Given the description of an element on the screen output the (x, y) to click on. 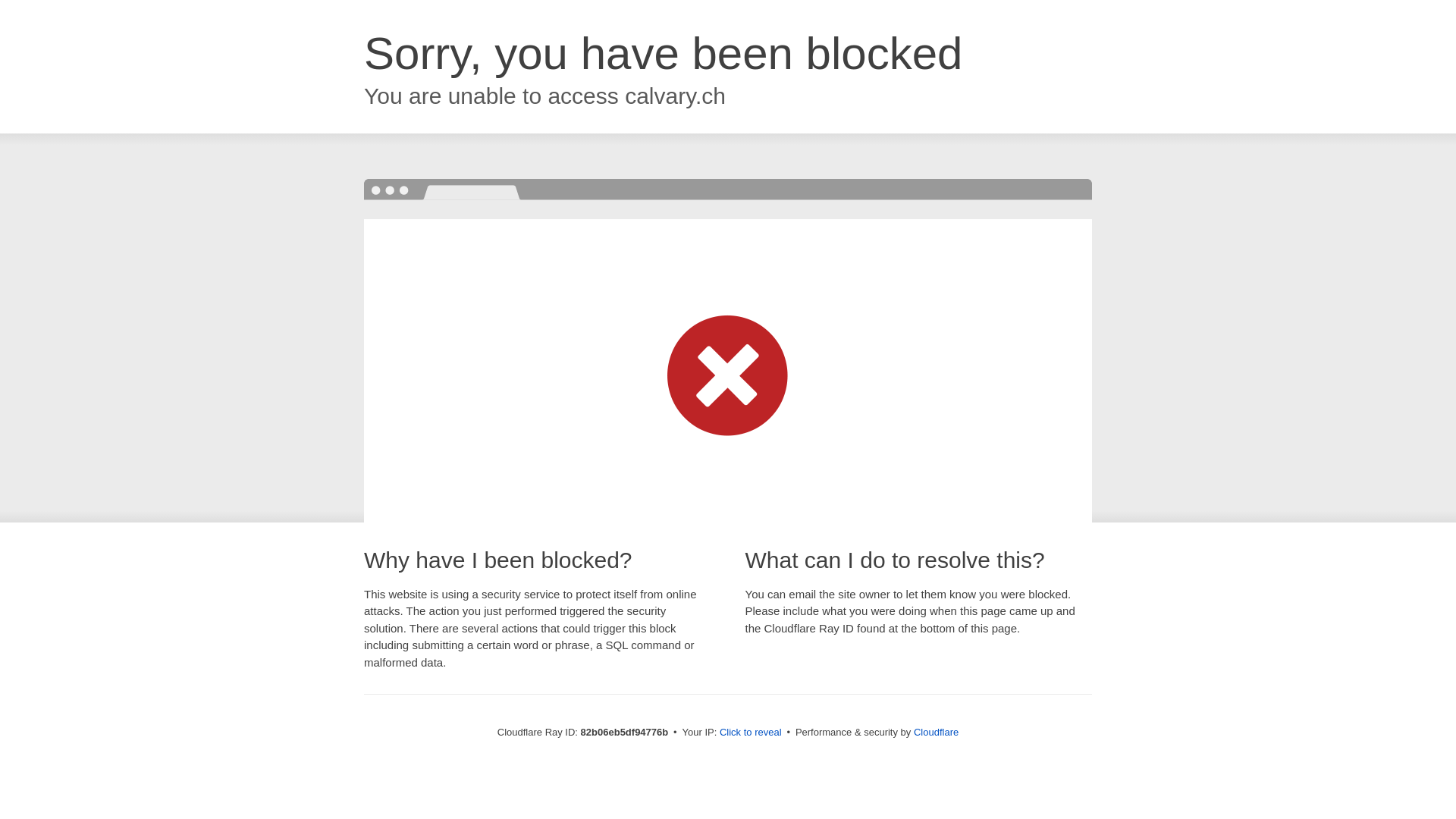
Click to reveal Element type: text (750, 732)
Cloudflare Element type: text (935, 731)
